Given the description of an element on the screen output the (x, y) to click on. 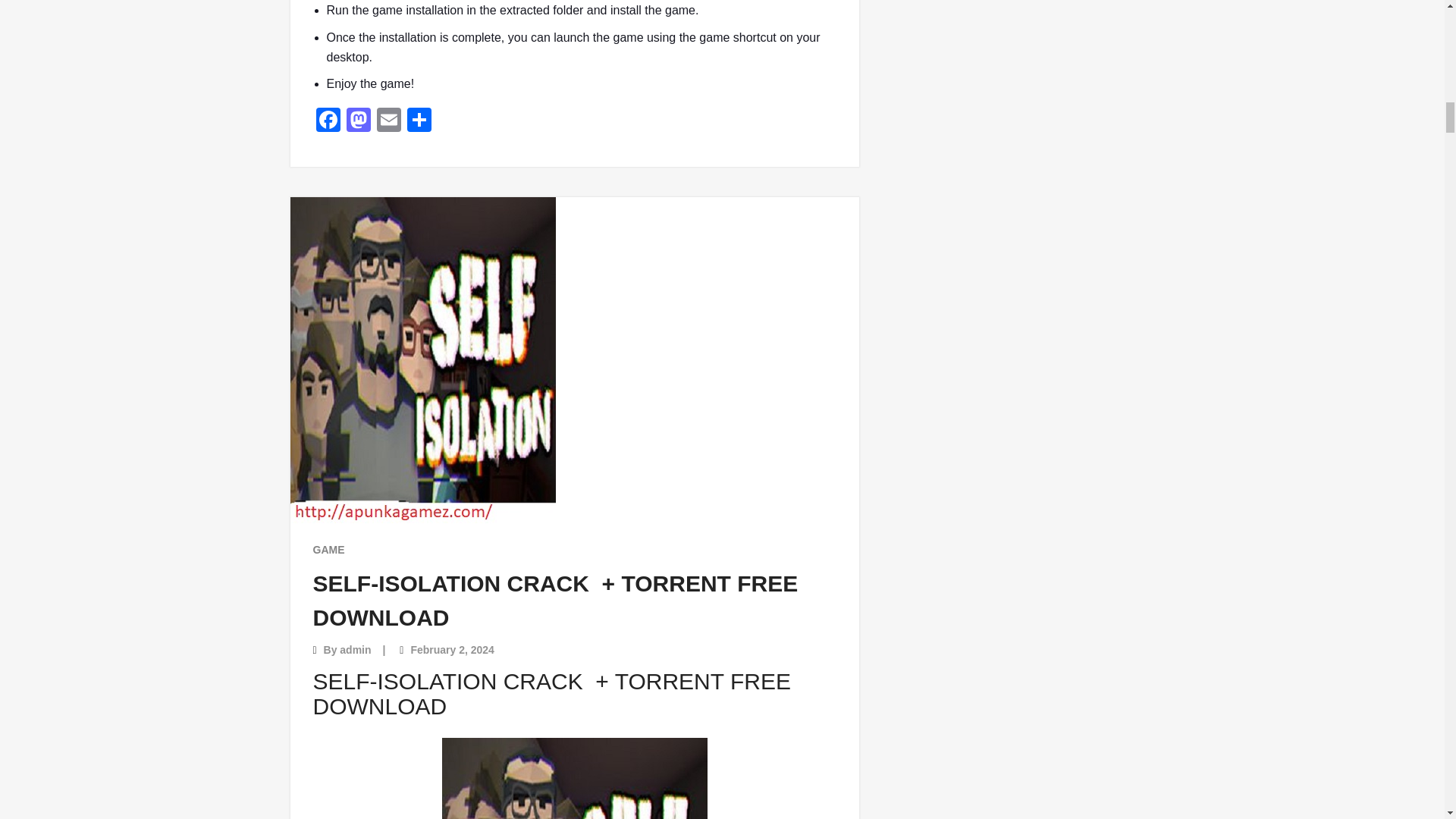
Email (387, 121)
Mastodon (357, 121)
Mastodon (357, 121)
Email (387, 121)
February 2, 2024 (452, 649)
Facebook (327, 121)
GAME (328, 549)
Facebook (327, 121)
admin (355, 649)
